Given the description of an element on the screen output the (x, y) to click on. 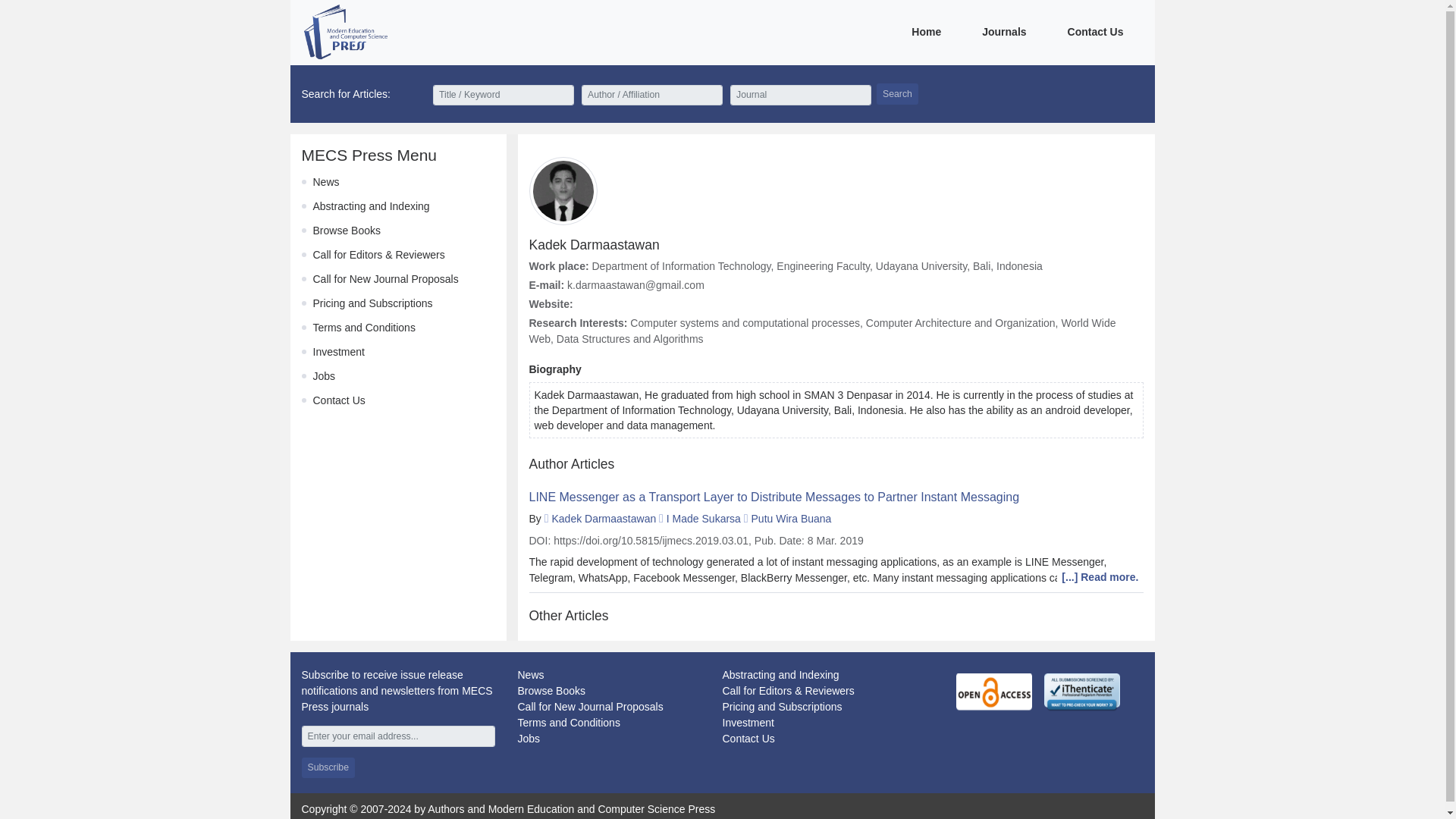
Abstracting and Indexing (780, 674)
Jobs (528, 738)
Investment (747, 722)
Pricing and Subscriptions (781, 706)
Browse Books (346, 230)
Contact Us (339, 399)
Terms and Conditions (568, 722)
Terms and Conditions (363, 327)
Search (897, 93)
Call for New Journal Proposals (589, 706)
Browse Books (550, 690)
I Made Sukarsa (703, 518)
Call for New Journal Proposals (385, 278)
Kadek Darmaastawan (603, 518)
Pricing and Subscriptions (372, 303)
